Given the description of an element on the screen output the (x, y) to click on. 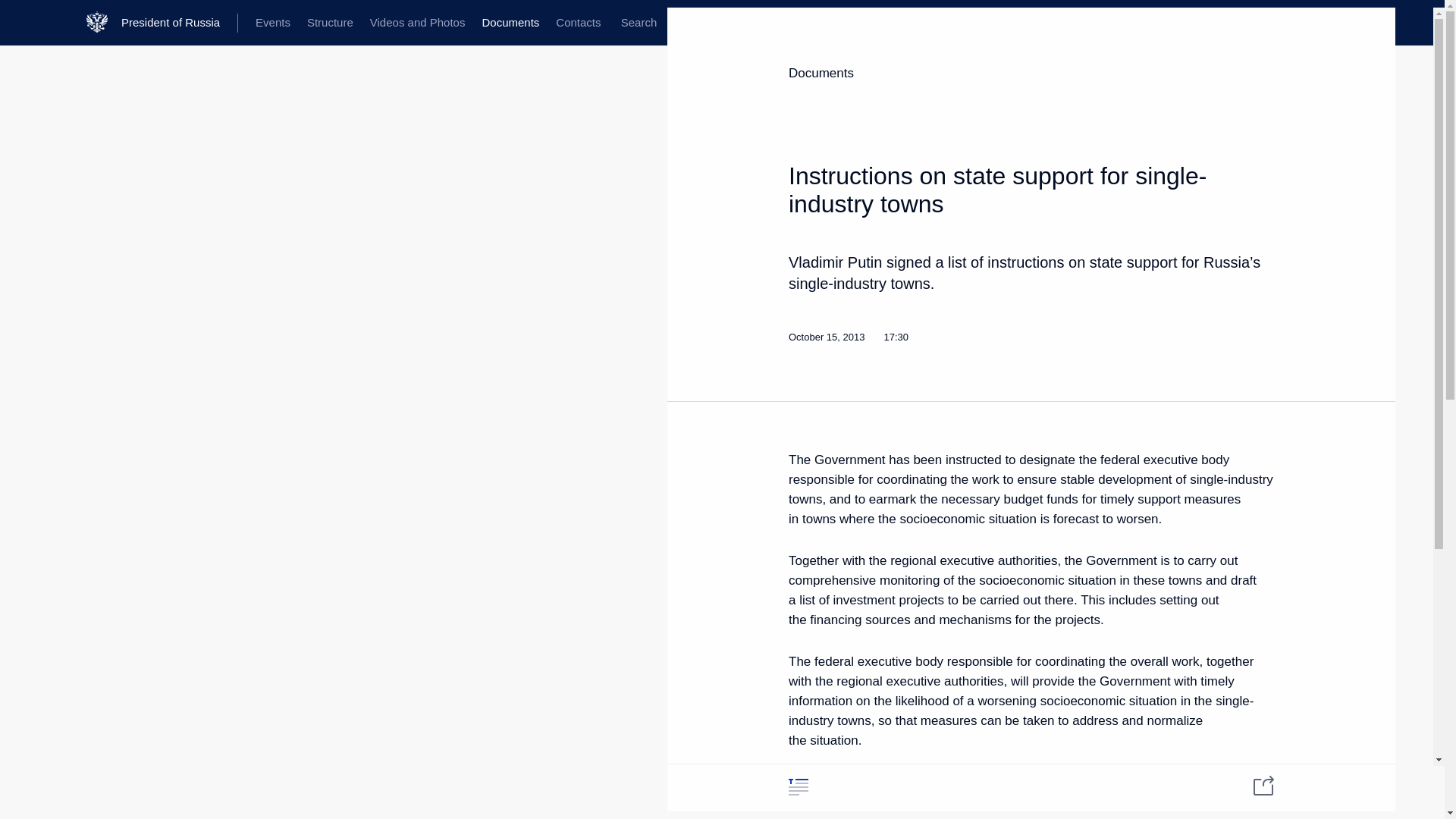
Structure (329, 22)
President of Russia (179, 22)
Search (638, 22)
Videos and Photos (417, 22)
Share (1253, 784)
Documents (510, 22)
Global website search (638, 22)
Contacts (577, 22)
Documents (821, 73)
